Given the description of an element on the screen output the (x, y) to click on. 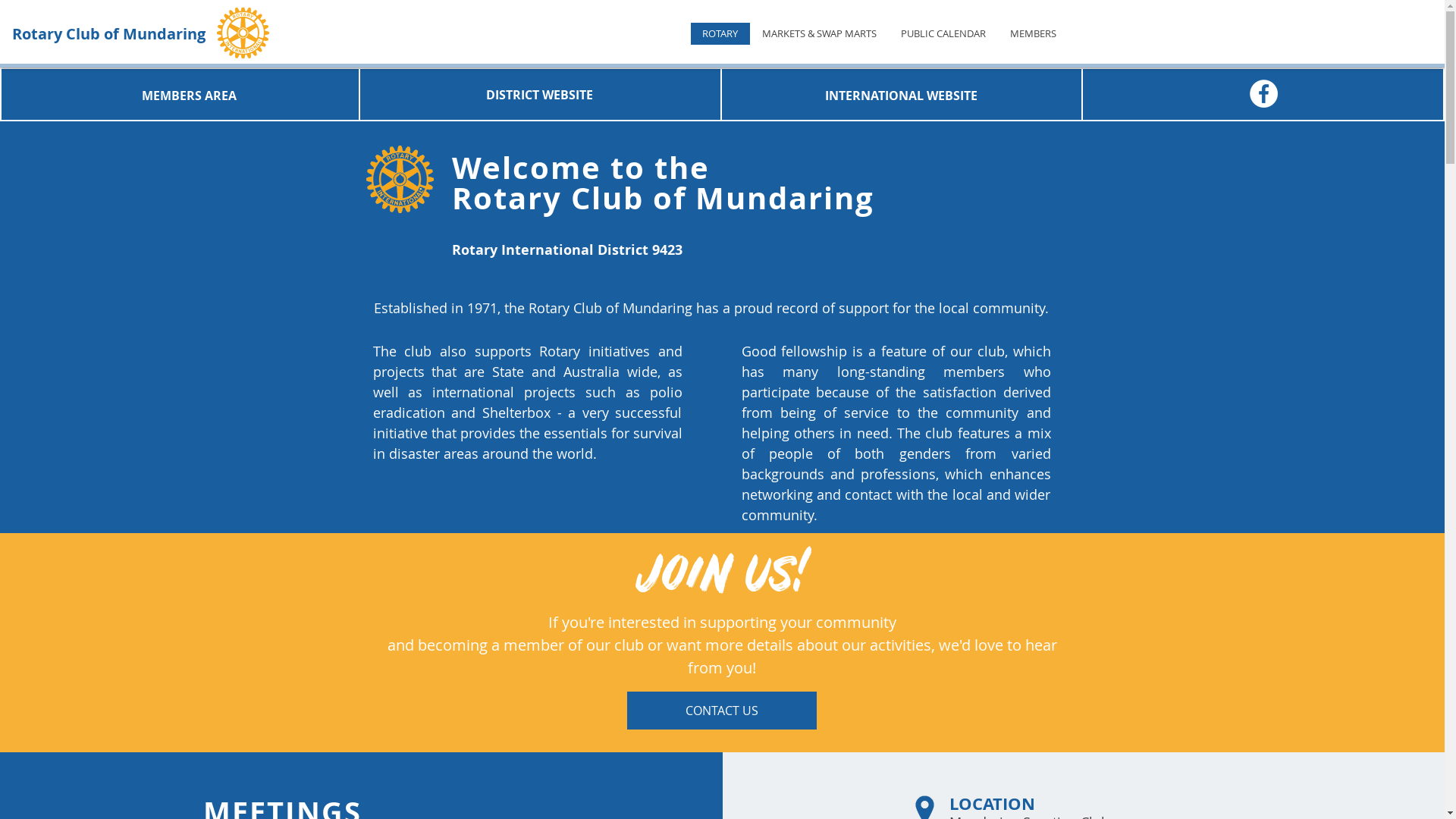
ROTARY Element type: text (719, 33)
MEMBERS Element type: text (1032, 33)
MEMBERS AREA Element type: text (189, 95)
Rotary Club of Mundaring  Element type: text (110, 33)
CONTACT US Element type: text (720, 710)
INTERNATIONAL WEBSITE Element type: text (900, 95)
LOCATION Element type: text (992, 803)
DISTRICT WEBSITE Element type: text (539, 94)
MARKETS & SWAP MARTS Element type: text (818, 33)
Rotary International District 9423 Element type: text (566, 249)
PUBLIC CALENDAR Element type: text (942, 33)
